Given the description of an element on the screen output the (x, y) to click on. 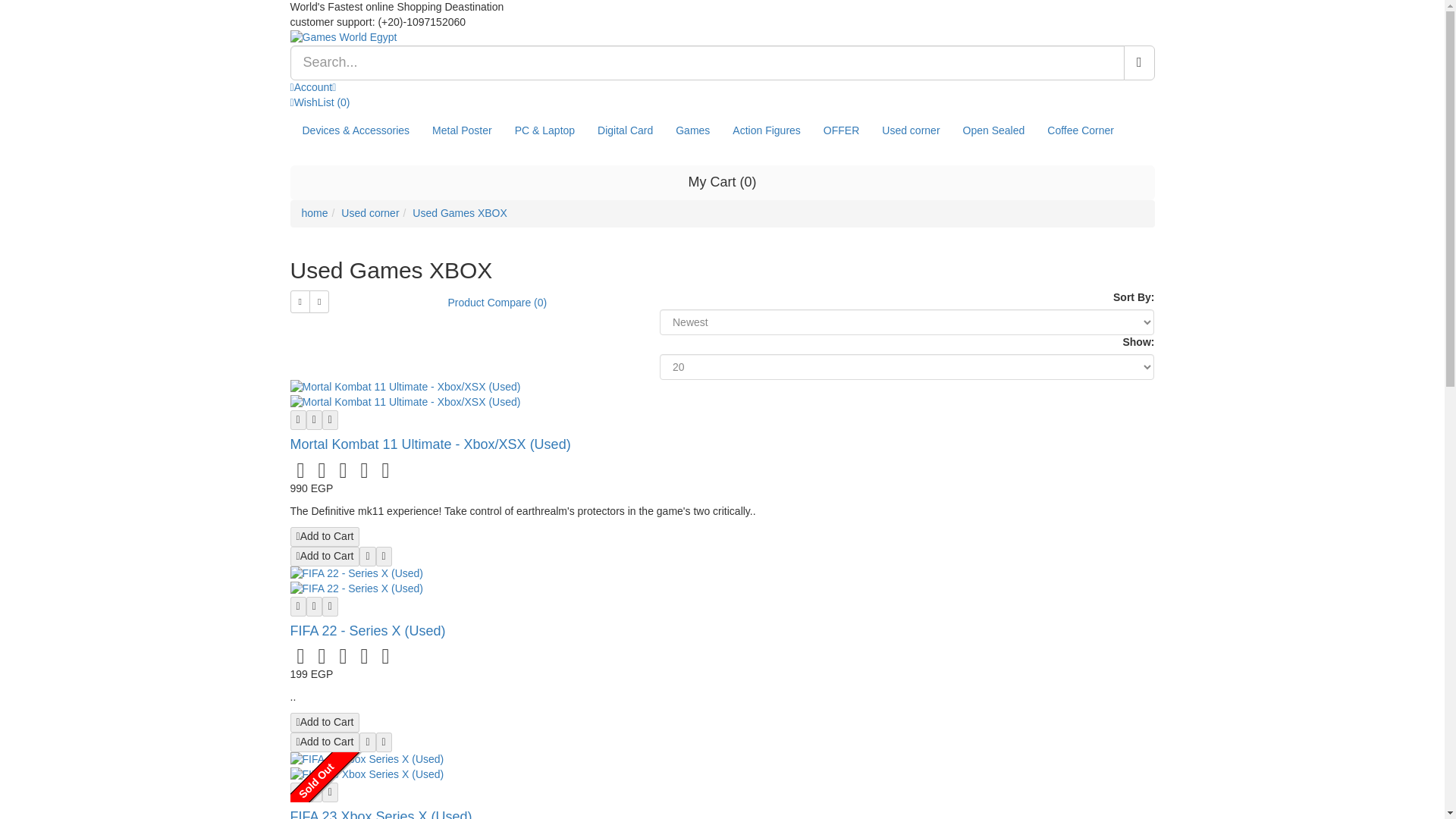
Add to Cart (324, 722)
Games World Egypt (721, 37)
Account (312, 87)
Add to Cart (324, 537)
Add to Cart (324, 556)
Account (312, 87)
